Given the description of an element on the screen output the (x, y) to click on. 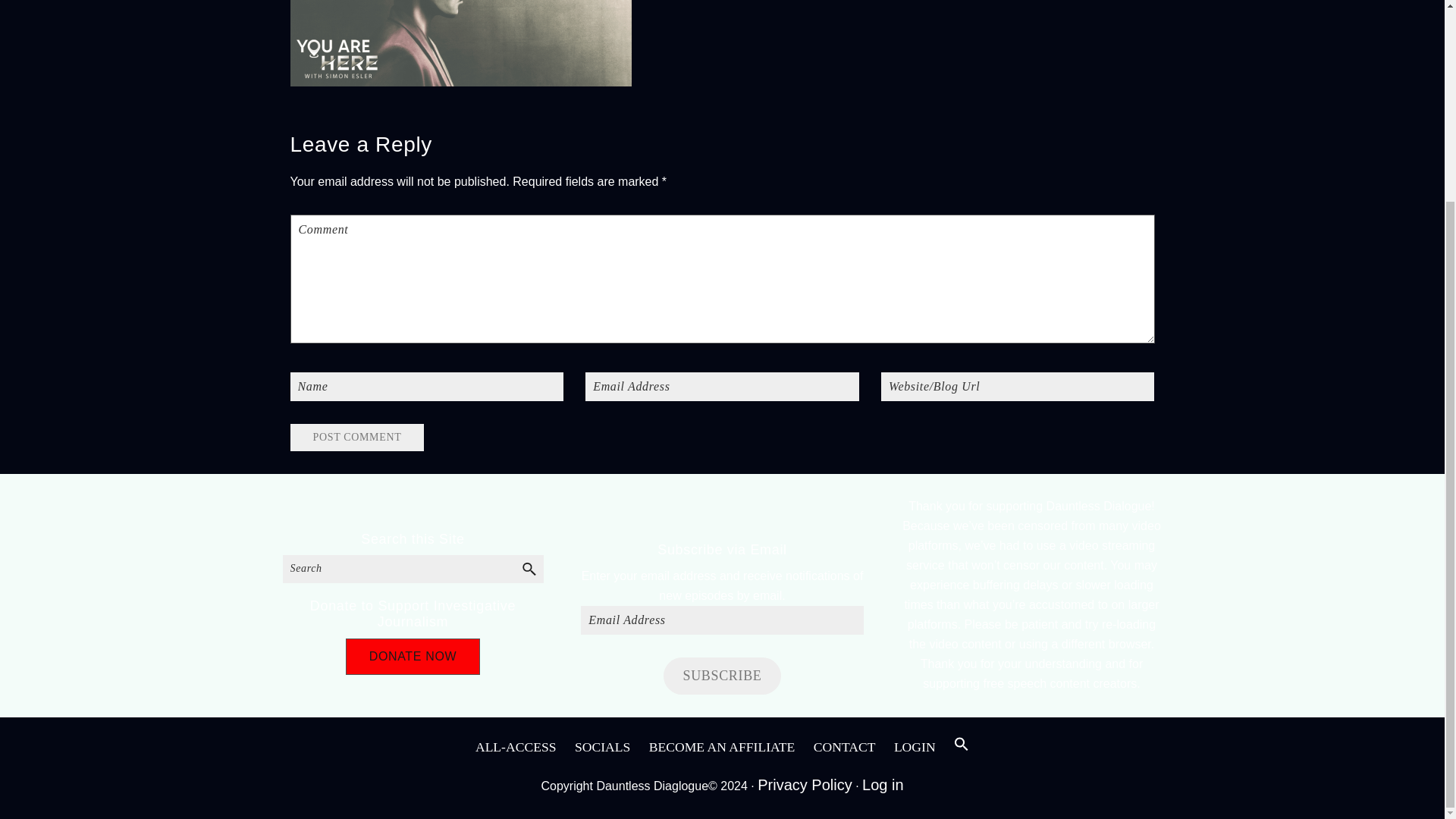
Post Comment (356, 437)
